Given the description of an element on the screen output the (x, y) to click on. 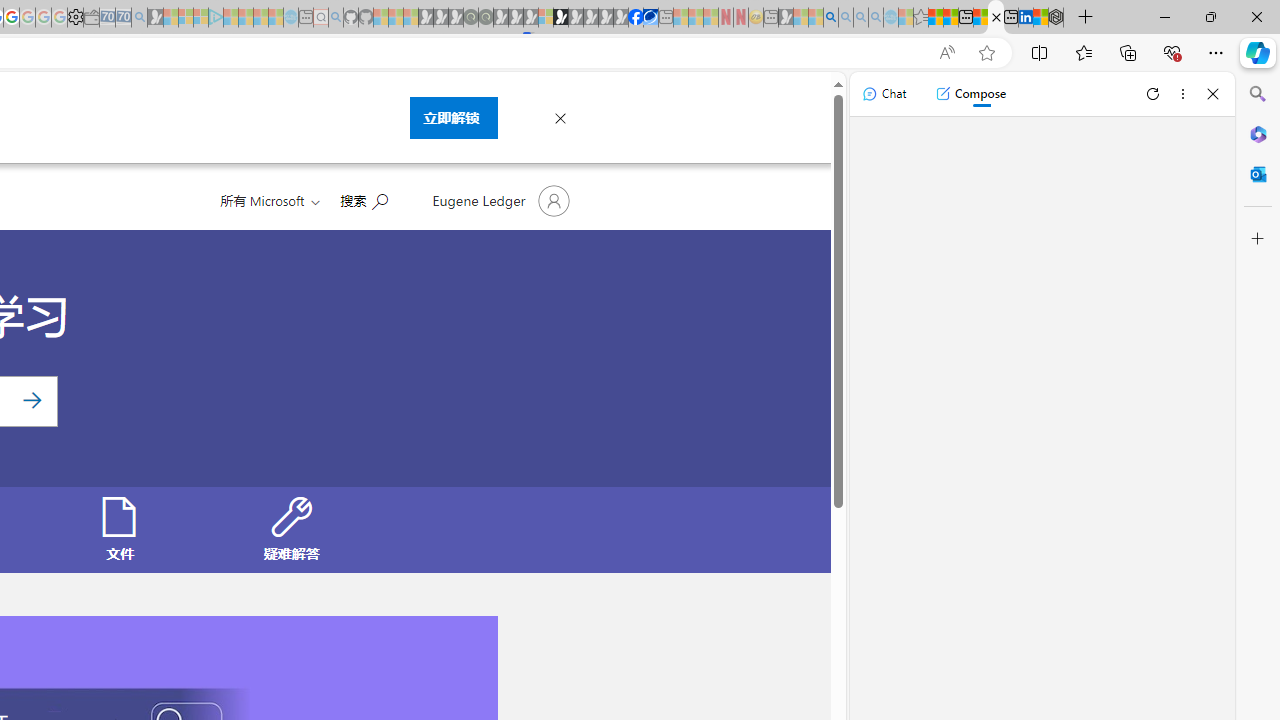
Aberdeen, Hong Kong SAR weather forecast | Microsoft Weather (950, 17)
